Given the description of an element on the screen output the (x, y) to click on. 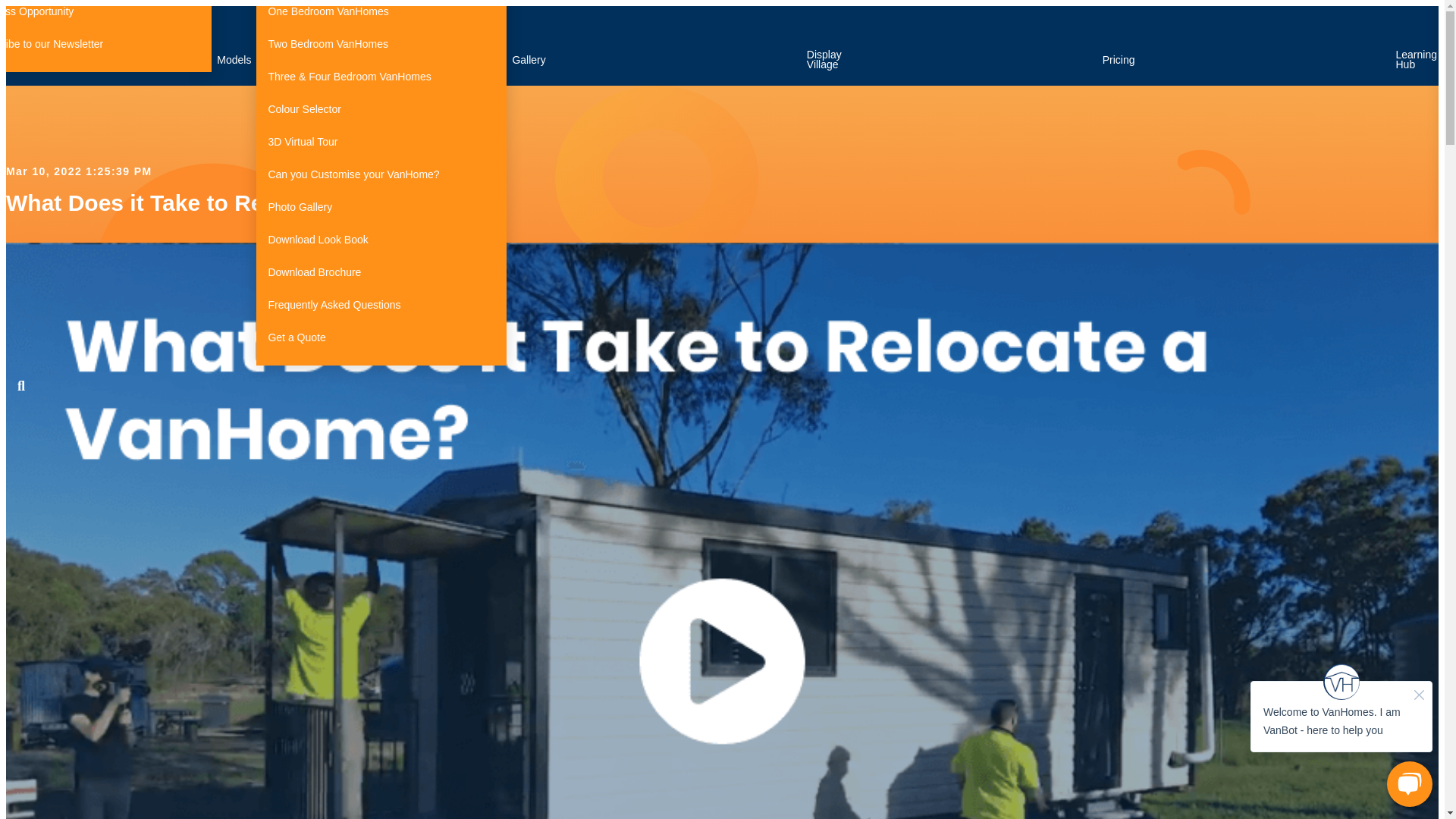
Download Look Book (381, 239)
Frequently Asked Questions (381, 305)
Get a Quote (381, 337)
Subscribe to our Newsletter (105, 43)
Photo Gallery (381, 206)
Business Opportunity (105, 13)
Colour Selector (381, 109)
Download Brochure (381, 272)
Can you Customise your VanHome? (381, 174)
One Bedroom VanHomes (381, 13)
3D Virtual Tour (381, 142)
Two Bedroom VanHomes (381, 43)
Chat Widget (1341, 734)
